Given the description of an element on the screen output the (x, y) to click on. 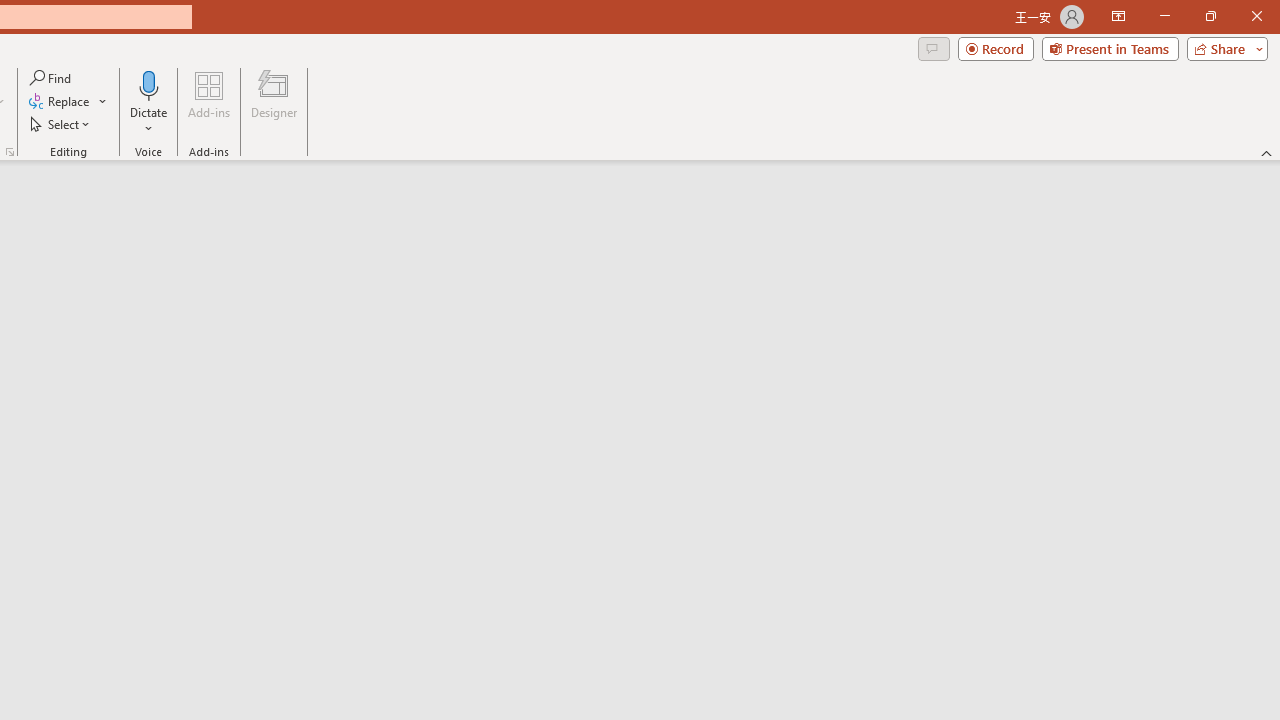
Select (61, 124)
